Given the description of an element on the screen output the (x, y) to click on. 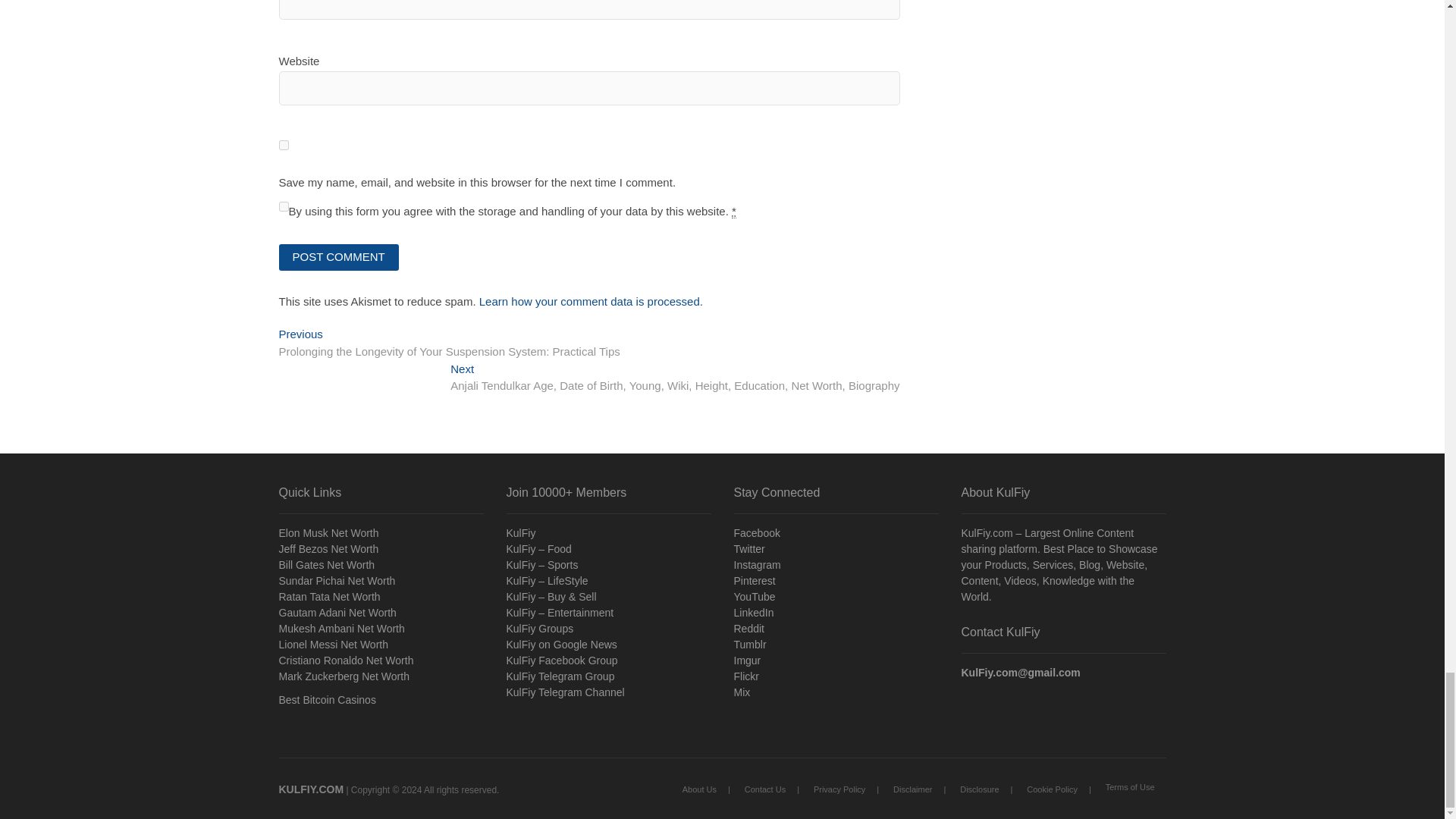
yes (283, 144)
Post Comment (338, 257)
1 (283, 206)
